Given the description of an element on the screen output the (x, y) to click on. 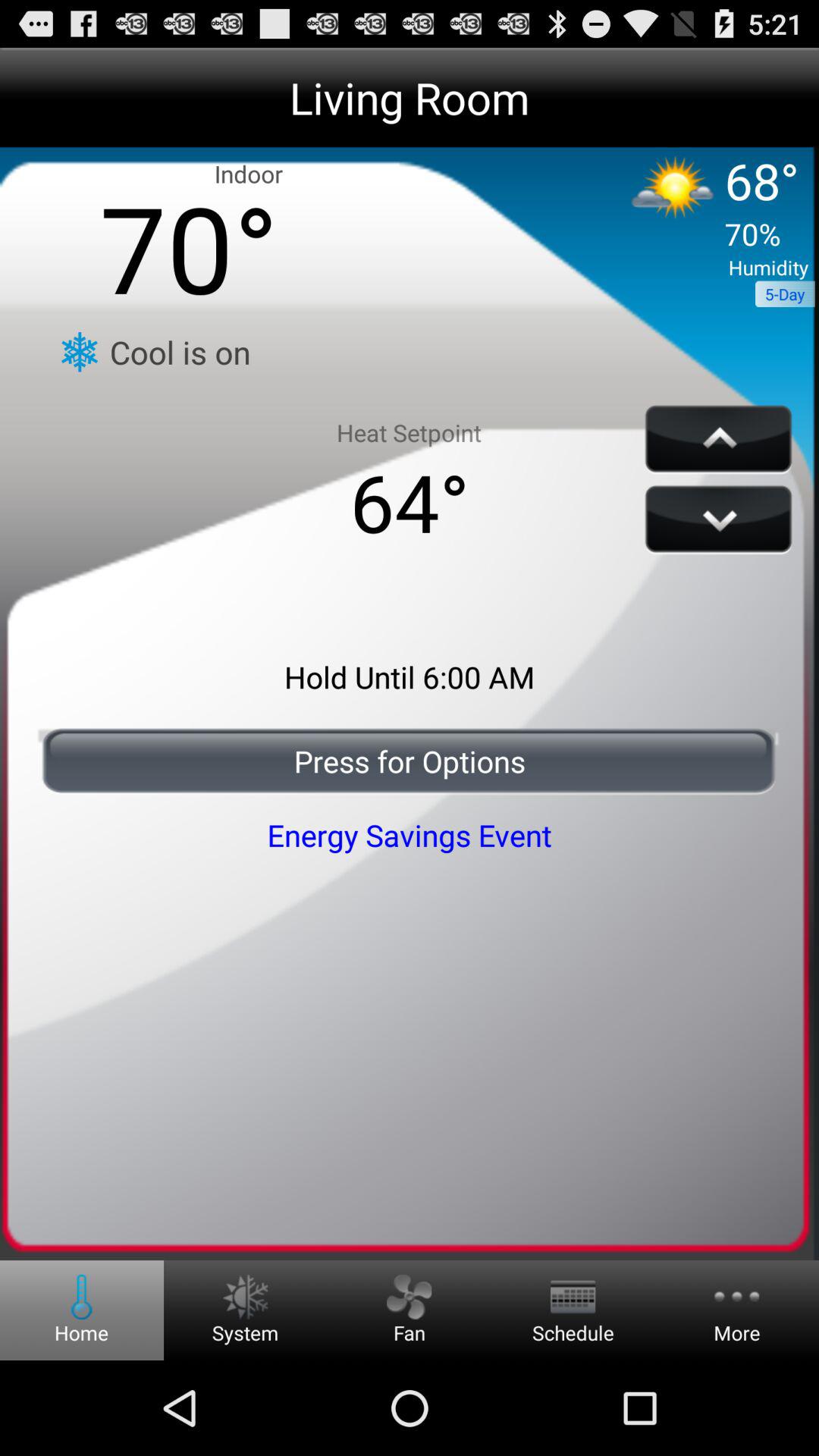
open energy savings event (409, 835)
